Given the description of an element on the screen output the (x, y) to click on. 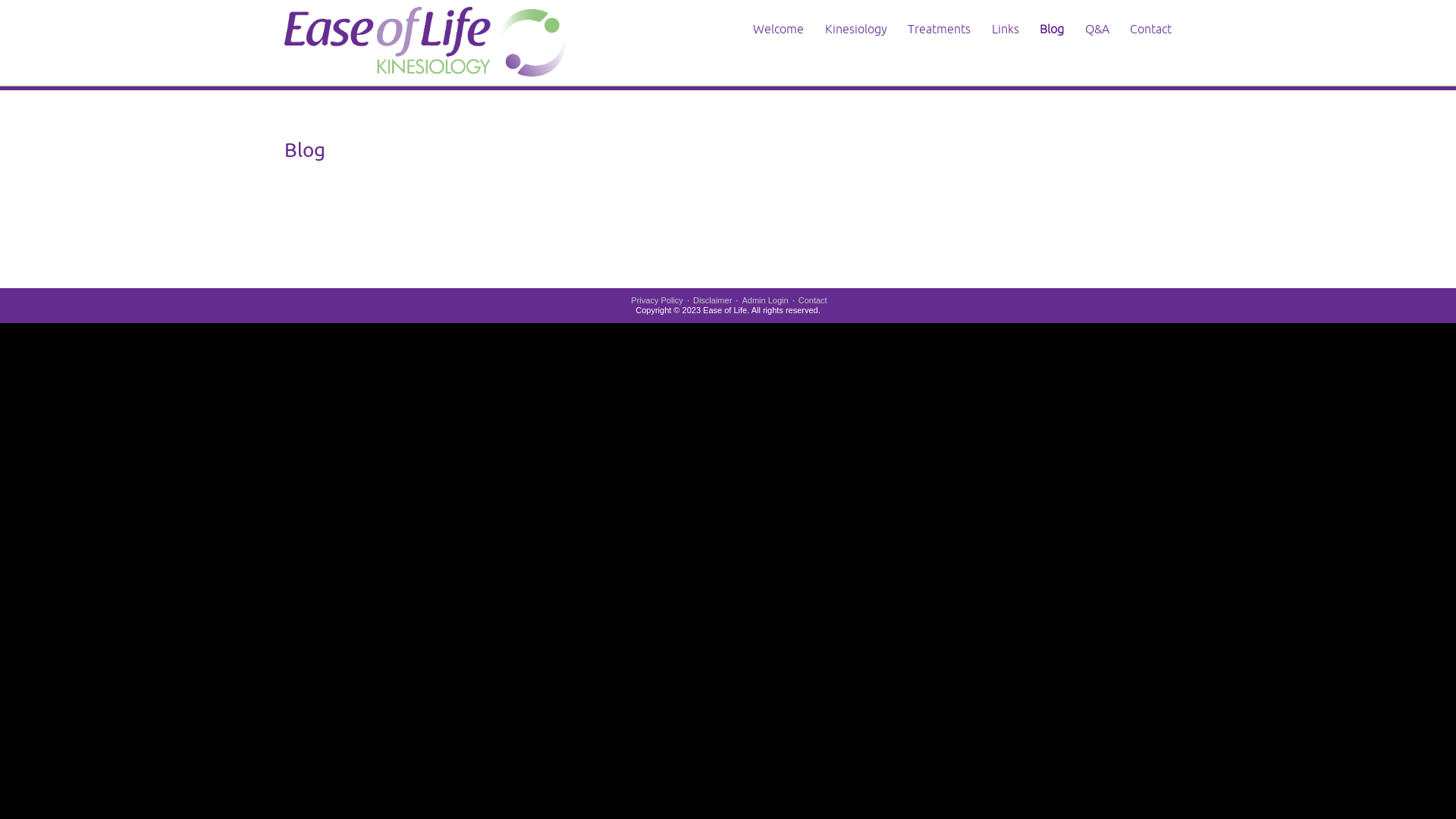
Disclaimer Element type: text (712, 299)
Blog Element type: text (1051, 28)
Contact Element type: text (1150, 28)
Kinesiology Element type: text (856, 28)
Privacy Policy Element type: text (656, 299)
Admin Login Element type: text (764, 299)
Q&A Element type: text (1097, 28)
Ease of Life Element type: hover (424, 40)
Treatments Element type: text (938, 28)
Links Element type: text (1005, 28)
Contact Element type: text (812, 299)
Welcome Element type: text (778, 28)
